Given the description of an element on the screen output the (x, y) to click on. 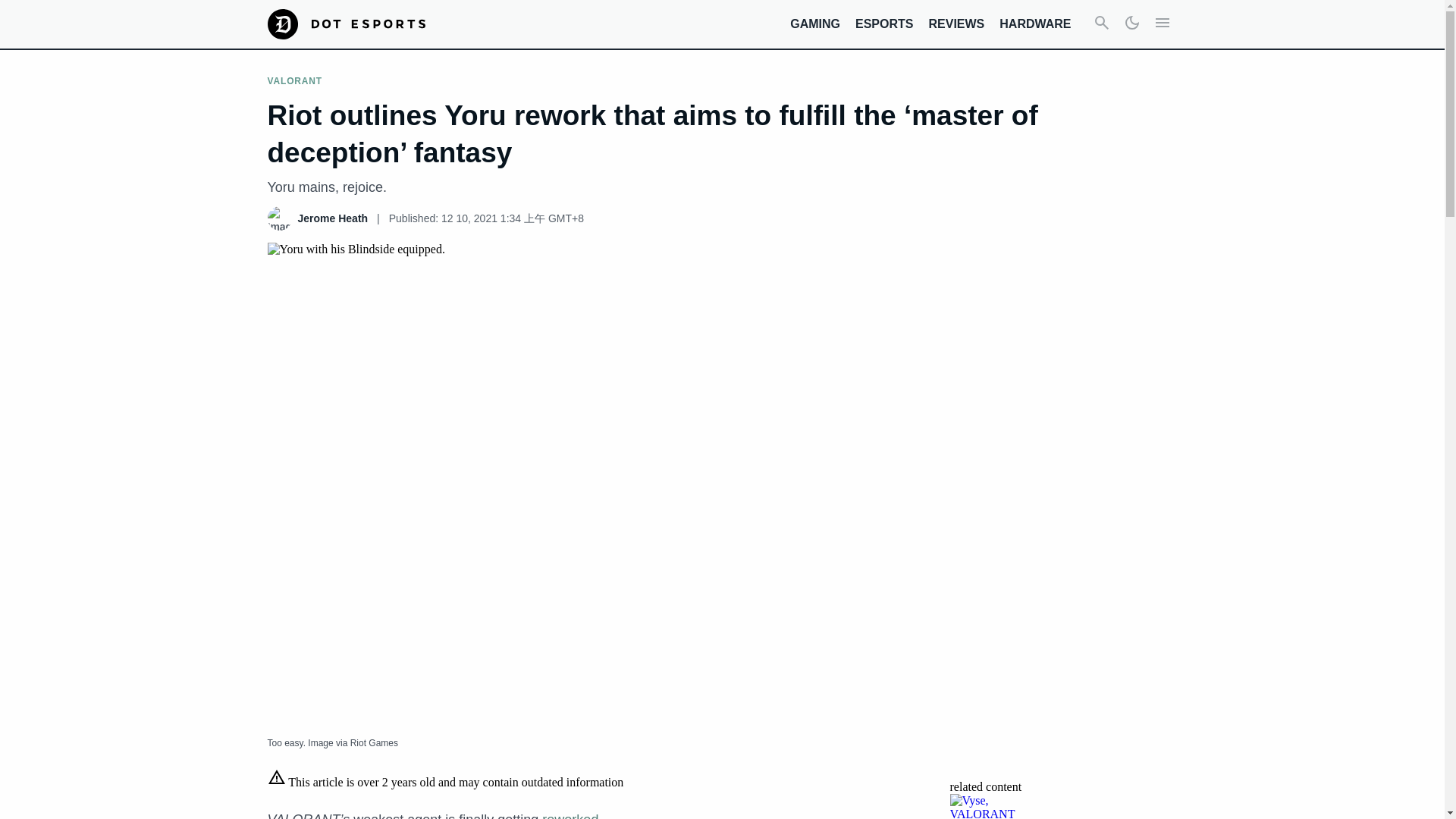
Search (1101, 23)
REVIEWS (956, 23)
ESPORTS (884, 23)
Expand Menu (1161, 23)
Dark Mode (1131, 23)
HARDWARE (1034, 23)
GAMING (815, 23)
